Given the description of an element on the screen output the (x, y) to click on. 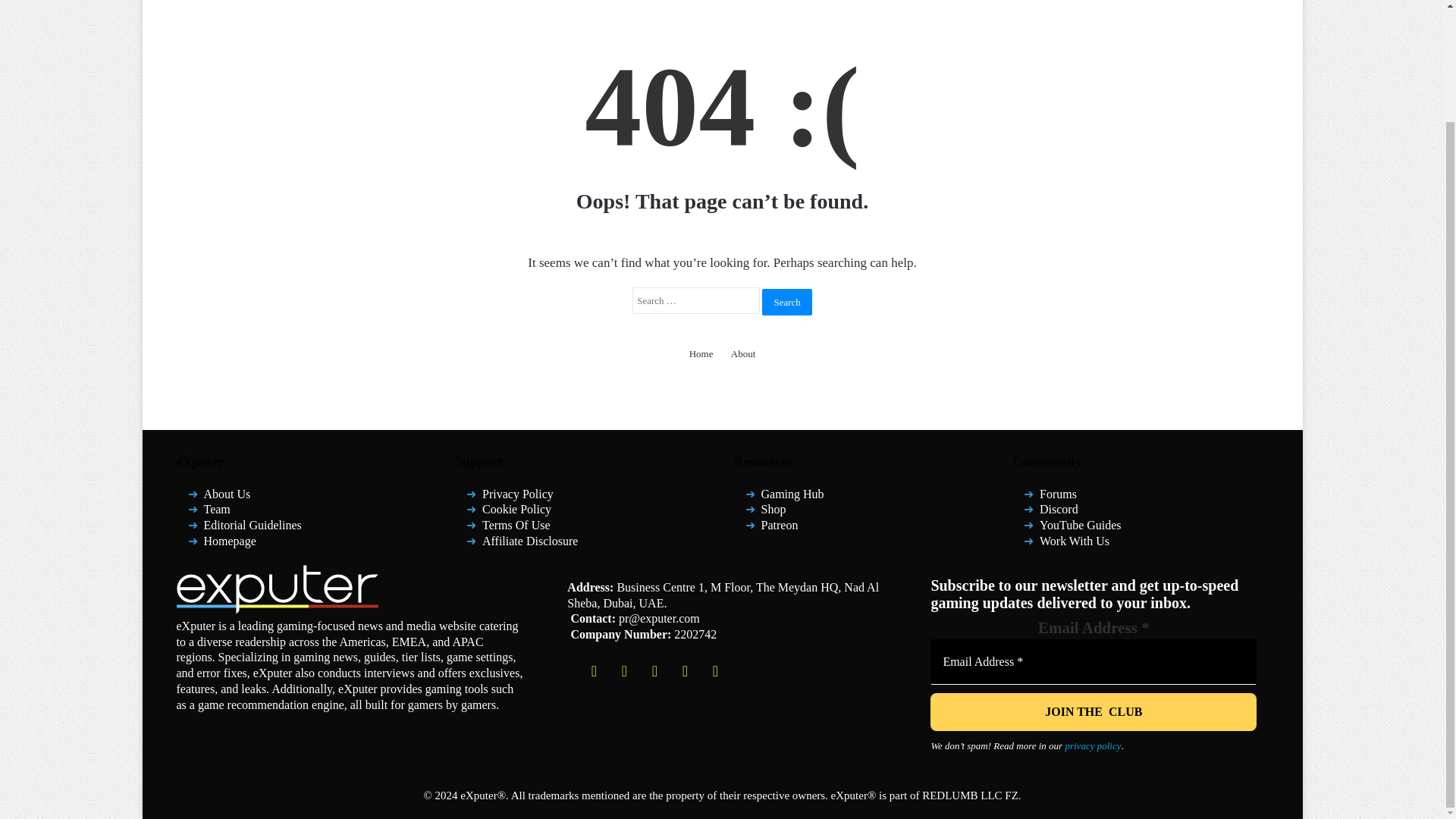
Email Address (1093, 661)
JOIN THE  CLUB (1093, 711)
Search (785, 301)
Search (785, 301)
